Given the description of an element on the screen output the (x, y) to click on. 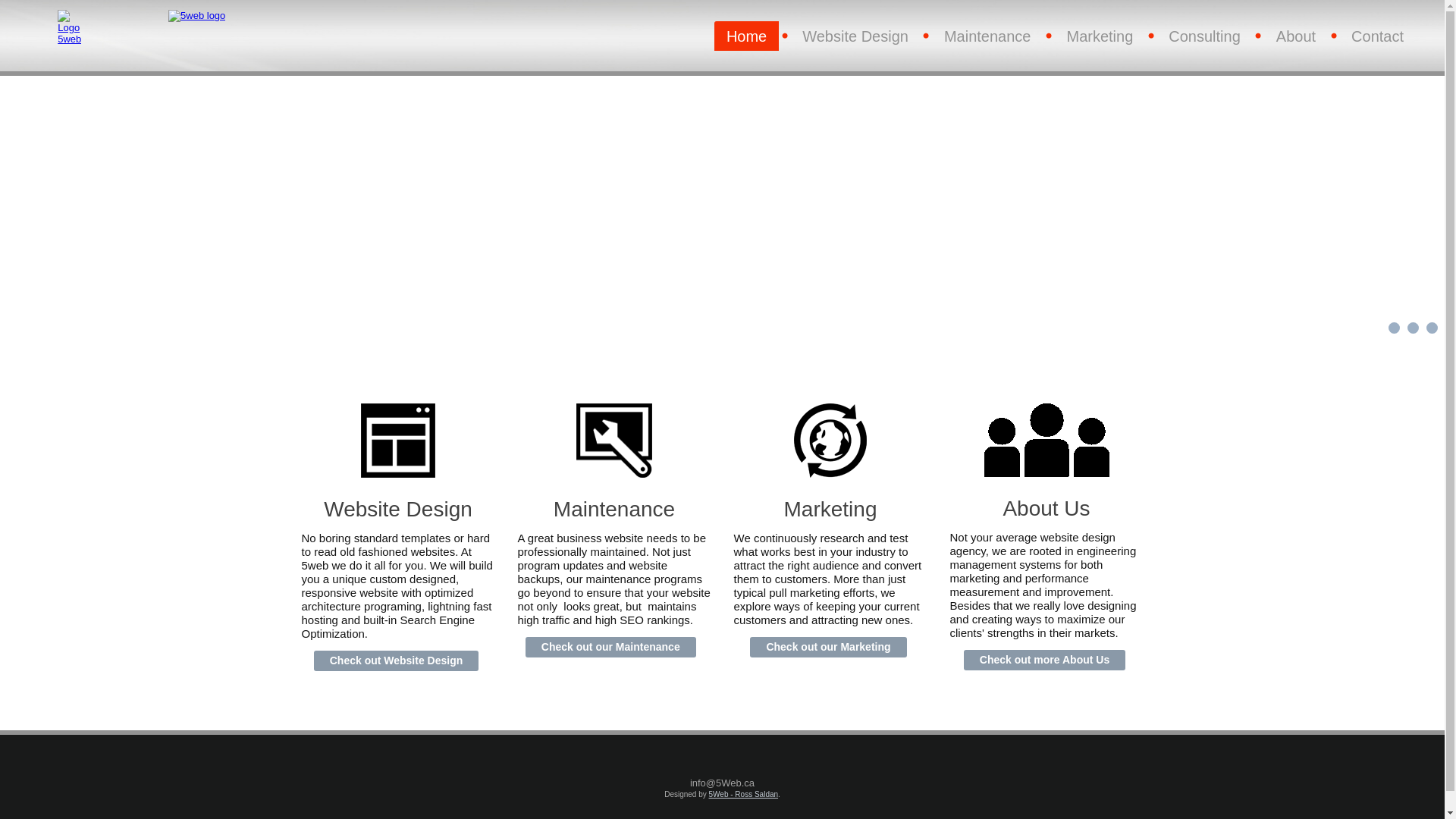
info@5Web.ca Element type: text (722, 782)
Marketing Element type: text (1099, 35)
About Element type: text (1295, 35)
Maintenance Element type: text (987, 35)
Check out our Maintenance Element type: text (610, 647)
Home Element type: text (746, 35)
Consulting Element type: text (1204, 35)
Check out Website Design Element type: text (396, 660)
Check out our Marketing Element type: text (827, 647)
5Web - Ross Saldan Element type: text (743, 794)
Website Design Element type: text (855, 35)
Check out more About Us Element type: text (1044, 659)
Contact Element type: text (1377, 35)
